Given the description of an element on the screen output the (x, y) to click on. 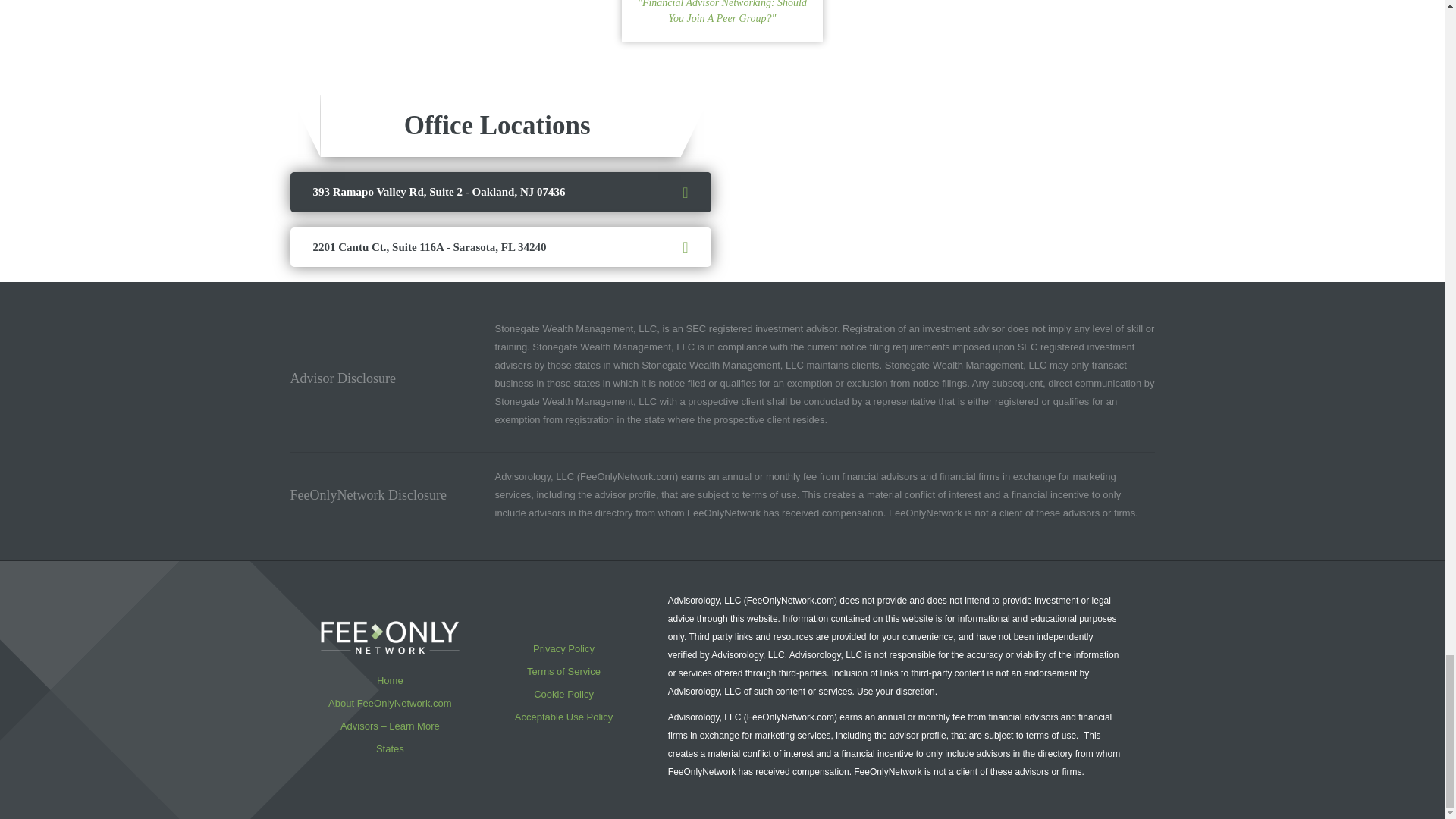
Home (390, 680)
